Given the description of an element on the screen output the (x, y) to click on. 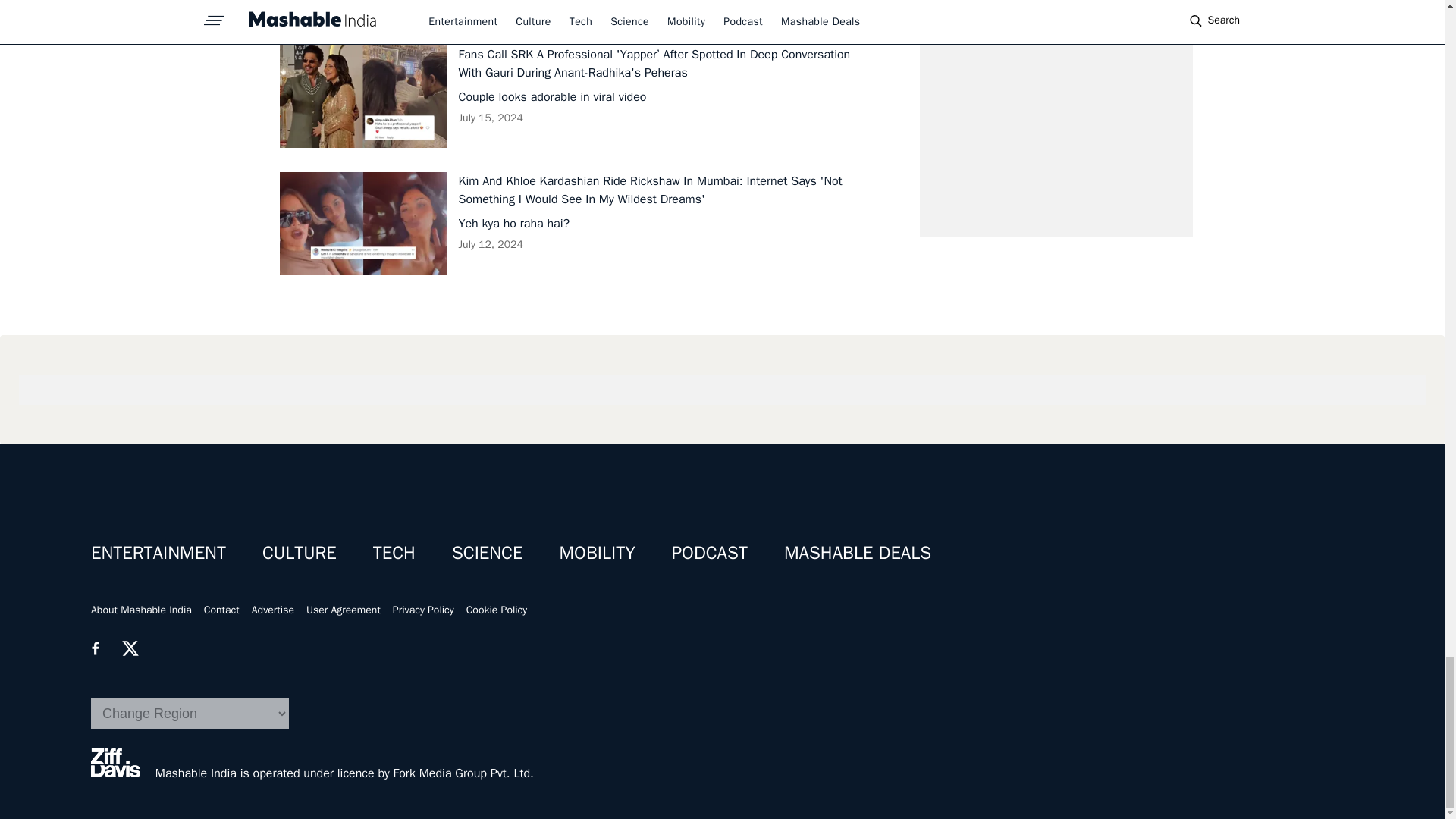
ENTERTAINMENT (157, 552)
